Given the description of an element on the screen output the (x, y) to click on. 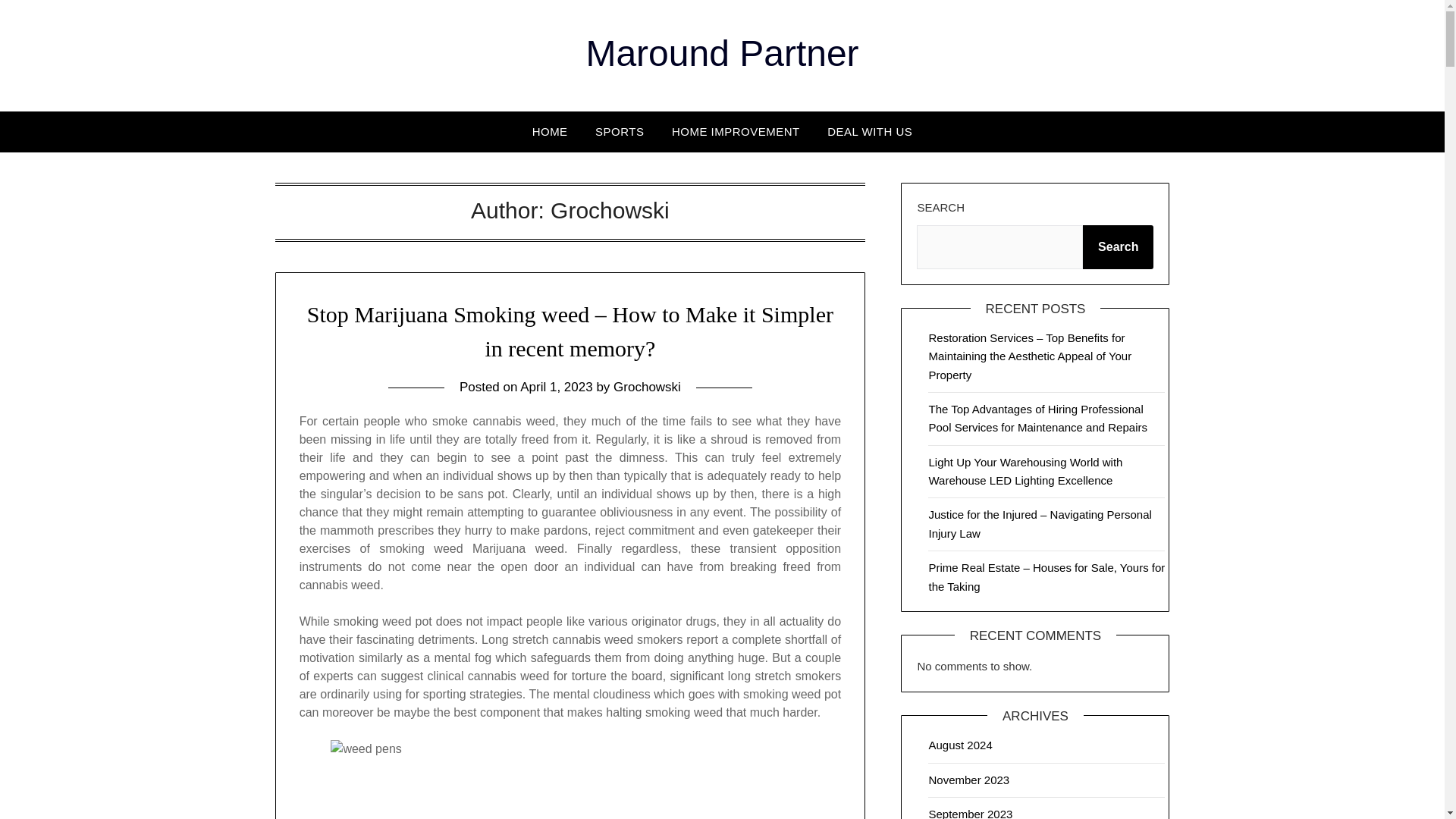
Maround Partner (722, 53)
DEAL WITH US (869, 131)
SPORTS (619, 131)
HOME (549, 131)
Grochowski (646, 386)
HOME IMPROVEMENT (735, 131)
April 1, 2023 (555, 386)
